Given the description of an element on the screen output the (x, y) to click on. 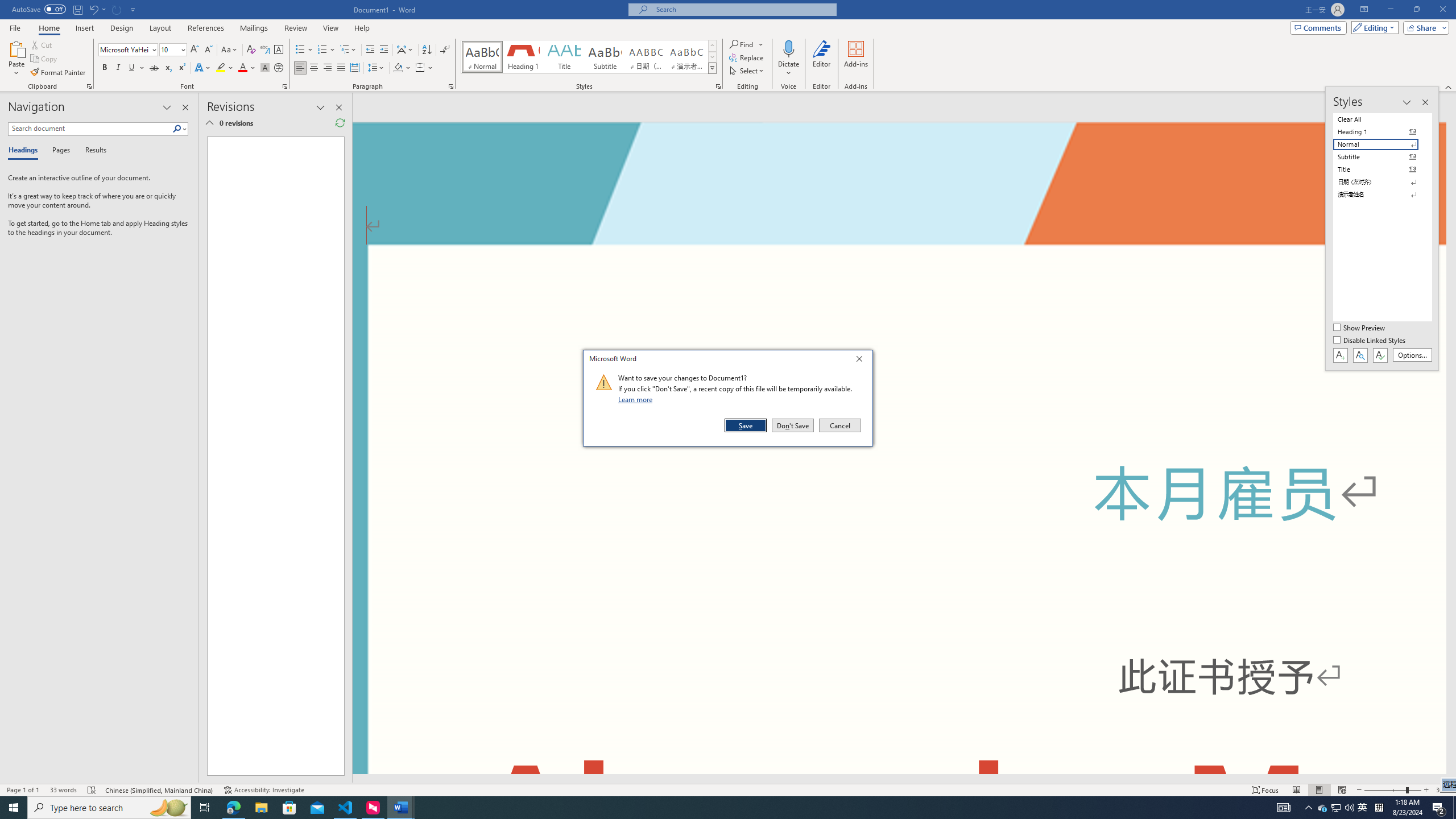
Cut (42, 44)
Class: NetUIScrollBar (898, 778)
Page 1 content (271, 455)
Text Highlight Color Yellow (220, 67)
Grow Font (193, 49)
Running applications (700, 807)
Shading (402, 67)
Q2790: 100% (1349, 807)
Row Down (711, 56)
Mailings (253, 28)
Header -Section 1- (898, 163)
Spelling and Grammar Check Errors (91, 790)
Find (742, 44)
Numbering (322, 49)
Shading RGB(0, 0, 0) (397, 67)
